Given the description of an element on the screen output the (x, y) to click on. 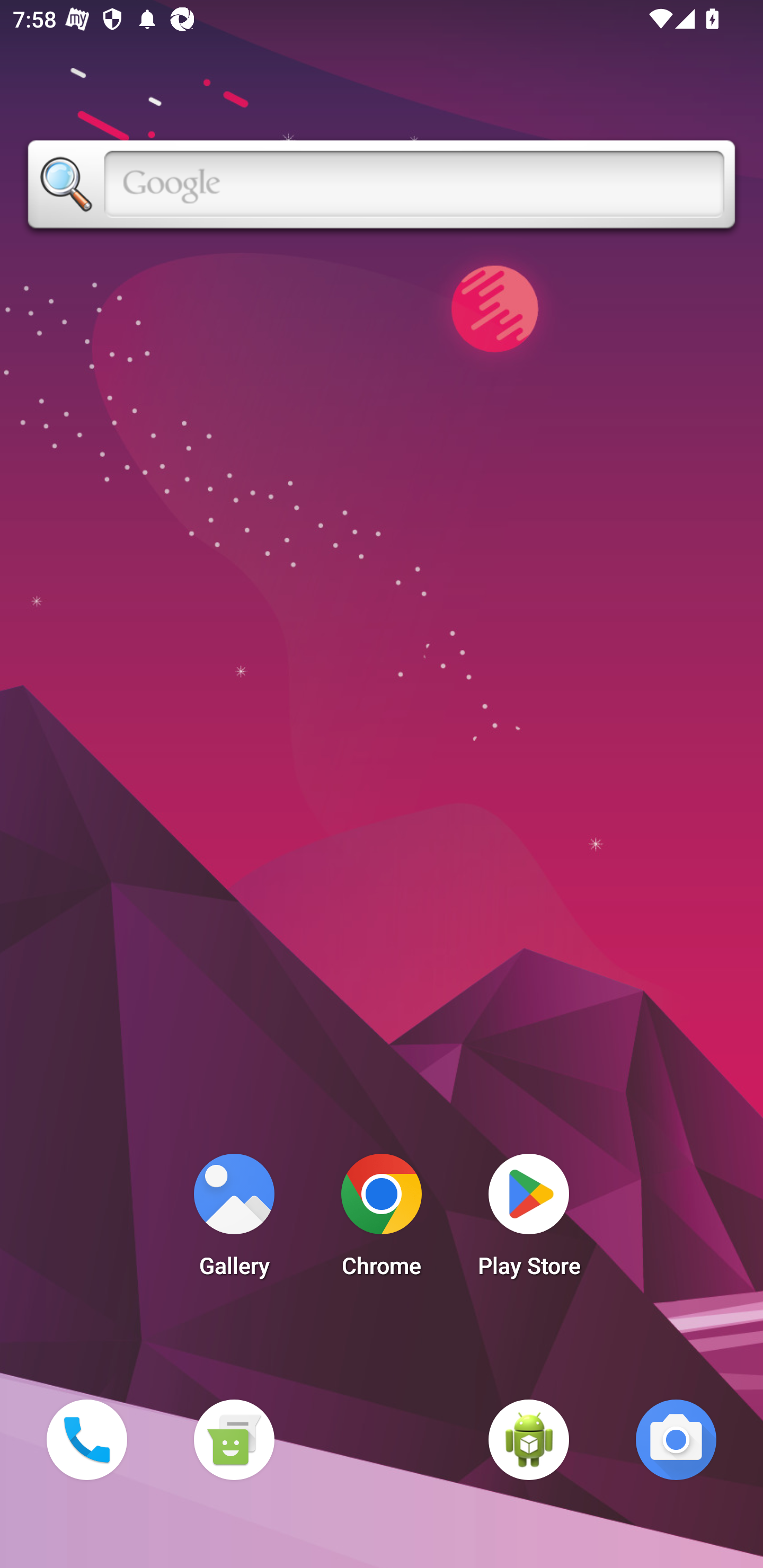
Gallery (233, 1220)
Chrome (381, 1220)
Play Store (528, 1220)
Phone (86, 1439)
Messaging (233, 1439)
WebView Browser Tester (528, 1439)
Camera (676, 1439)
